Given the description of an element on the screen output the (x, y) to click on. 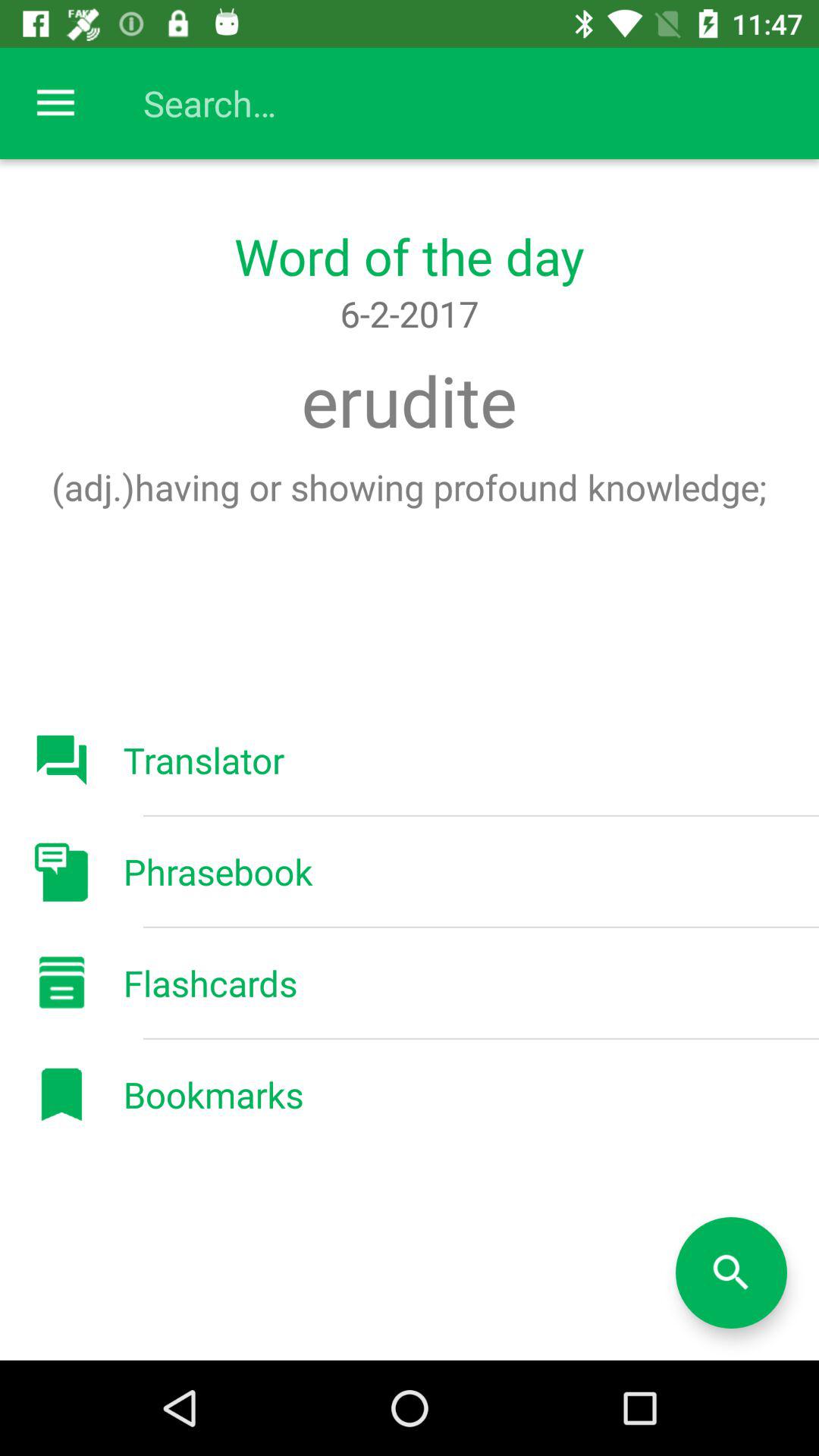
search bar (425, 103)
